Given the description of an element on the screen output the (x, y) to click on. 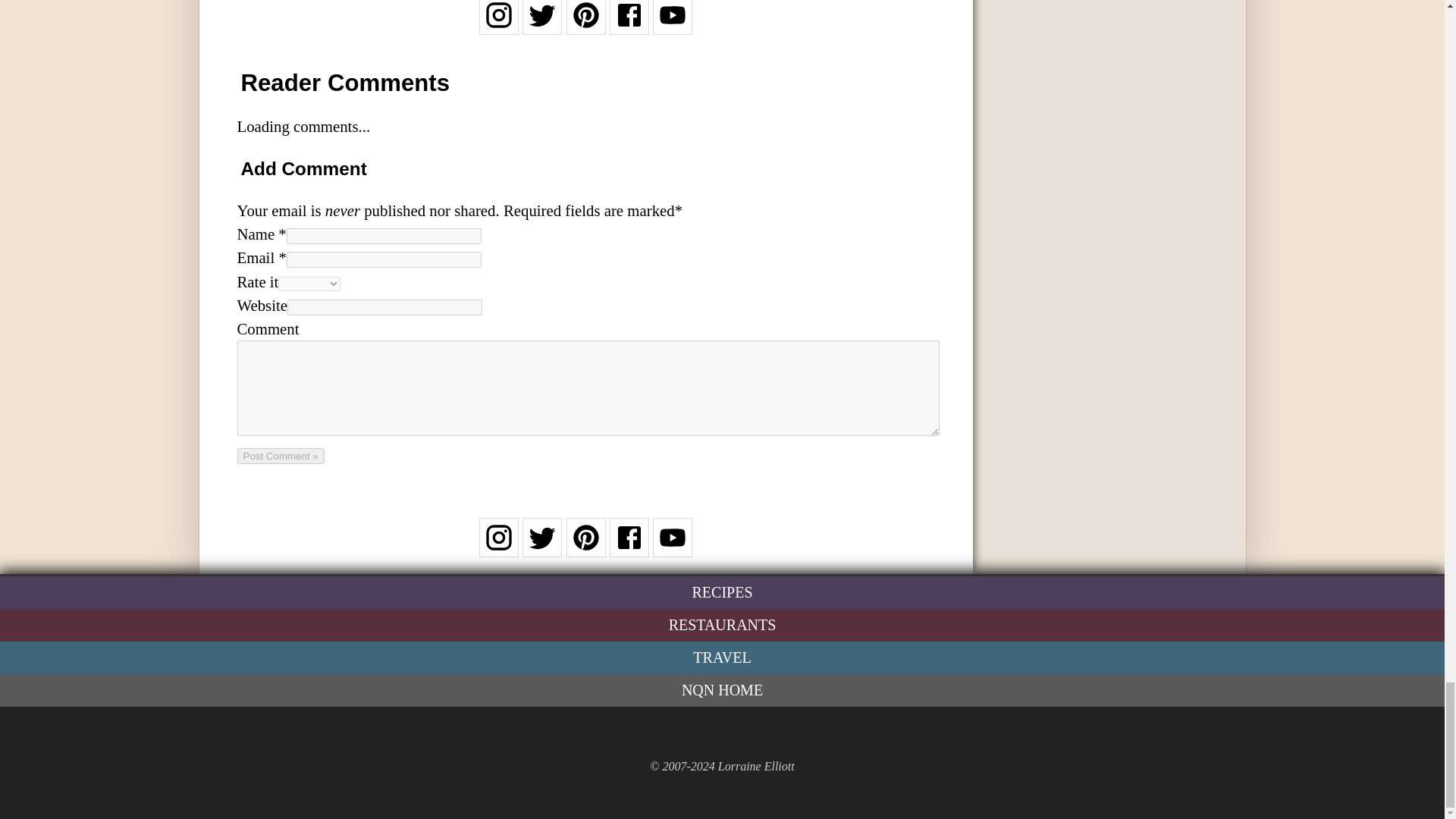
Follow on Instagram (498, 24)
Follow on Instagram (498, 547)
Follow on Pinterest (584, 24)
Follow on Pinterest (584, 547)
Follow on YouTube (672, 547)
Follow on Twitter (542, 547)
Follow on Twitter (542, 24)
Follow on Facebook (629, 547)
Follow on Facebook (629, 24)
Follow on YouTube (672, 24)
